Given the description of an element on the screen output the (x, y) to click on. 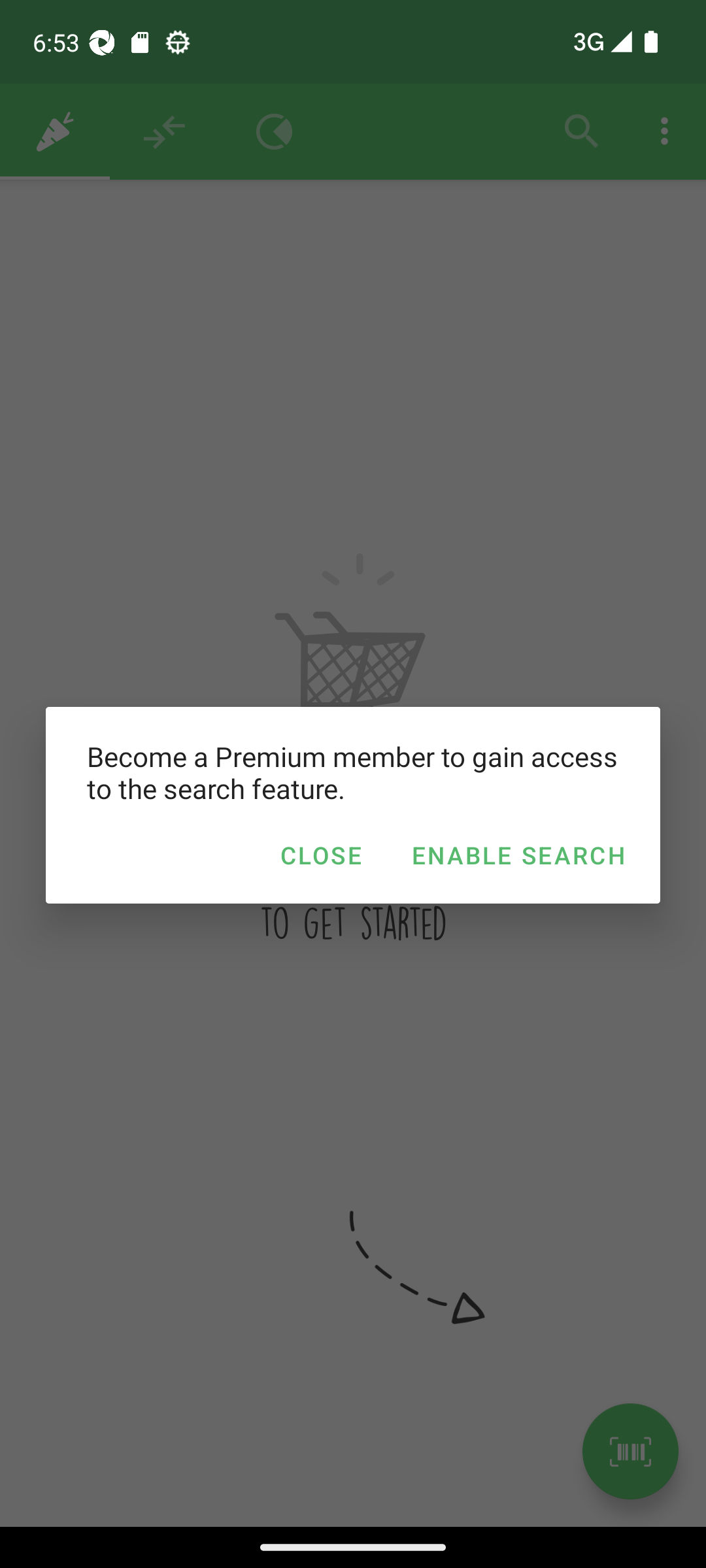
CLOSE (320, 854)
ENABLE SEARCH (517, 854)
